Given the description of an element on the screen output the (x, y) to click on. 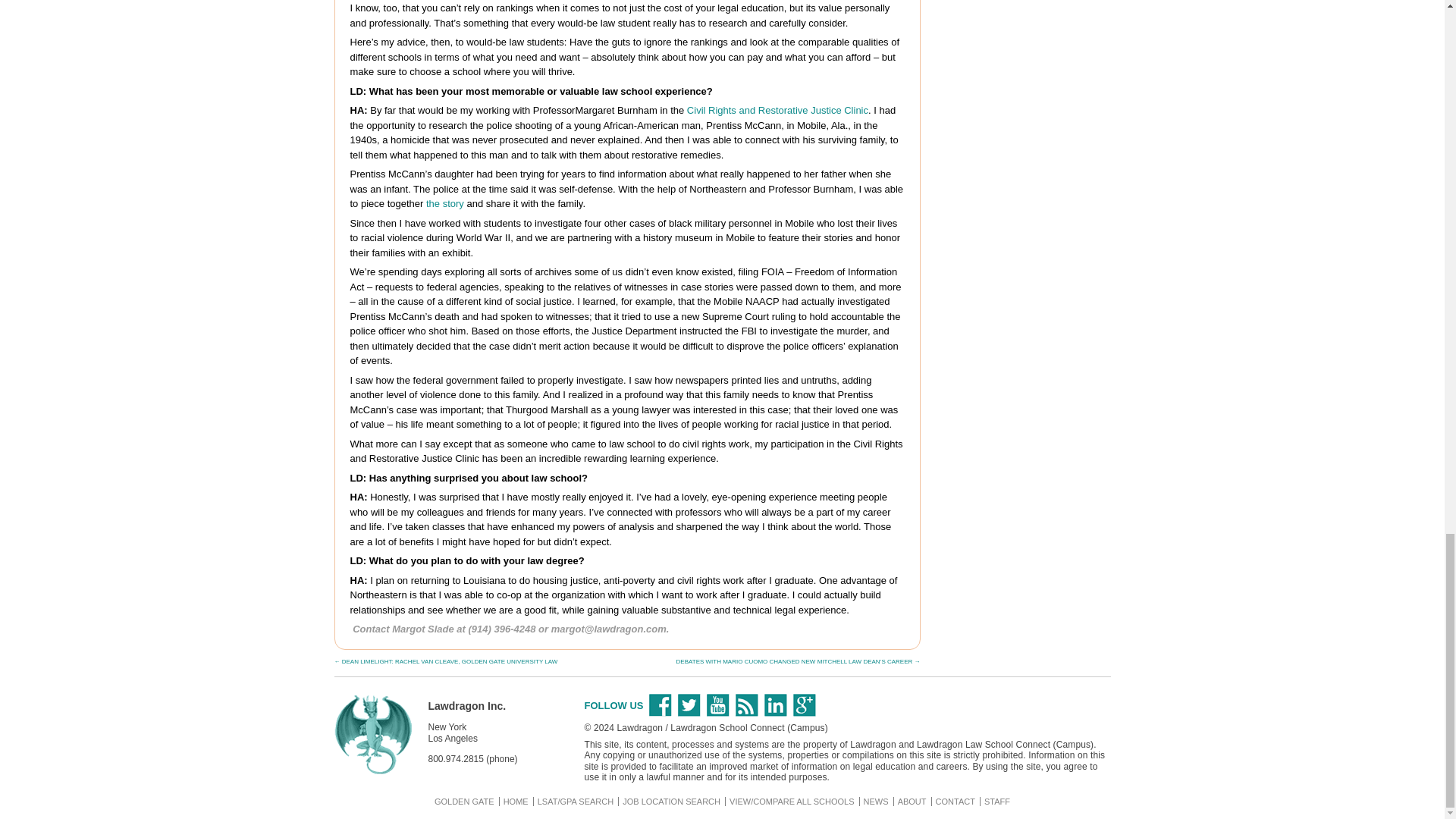
the story (445, 203)
Civil Rights and Restorative Justice Clinic (777, 110)
